Given the description of an element on the screen output the (x, y) to click on. 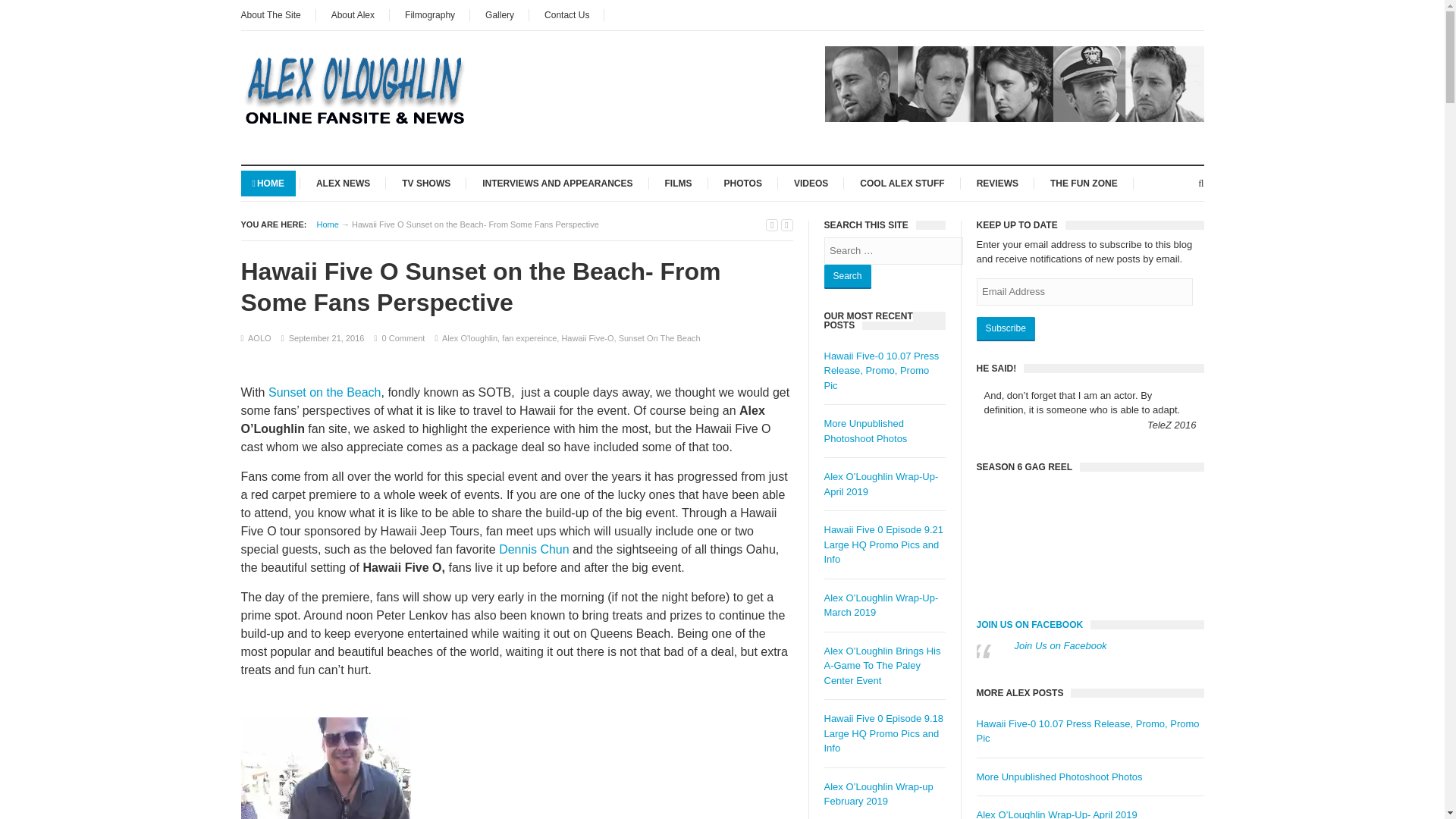
About Alex (352, 15)
COOL ALEX STUFF (901, 182)
Sunset On The Beach (659, 338)
Contact Us (566, 15)
Gallery (499, 15)
Home (328, 224)
HOME (268, 182)
AOLO (258, 338)
THE FUN ZONE (1084, 182)
FILMS (678, 182)
PHOTOS (743, 182)
REVIEWS (997, 182)
About The Site (278, 15)
Wednesday, September 21, 2016, 10:07 am (326, 338)
Sunset on the Beach fan experience (325, 768)
